Given the description of an element on the screen output the (x, y) to click on. 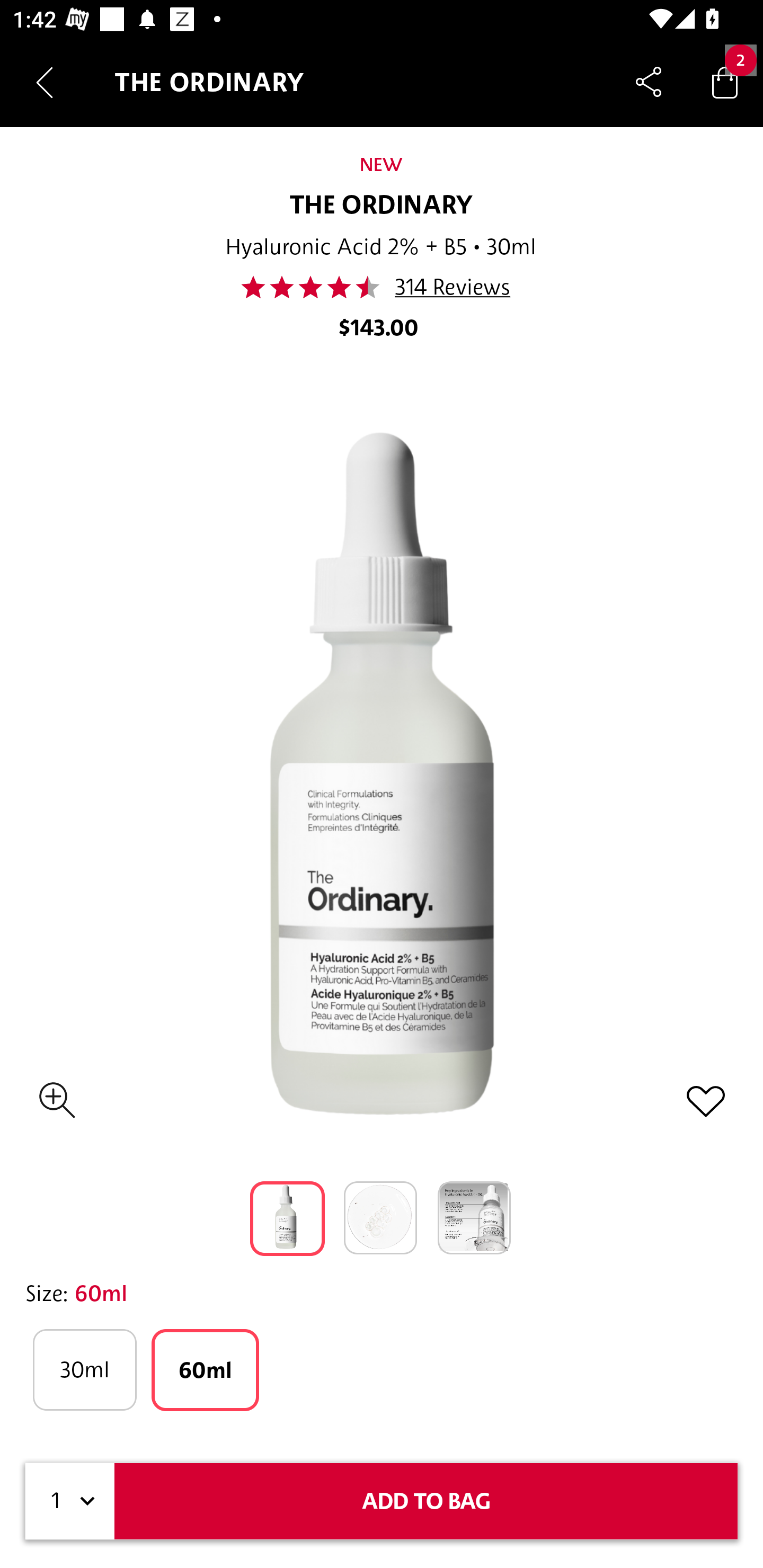
Navigate up (44, 82)
Share (648, 81)
Bag (724, 81)
THE ORDINARY (381, 205)
45.0 314 Reviews (380, 286)
30ml (84, 1370)
60ml (205, 1370)
1 (69, 1500)
ADD TO BAG (425, 1500)
